Given the description of an element on the screen output the (x, y) to click on. 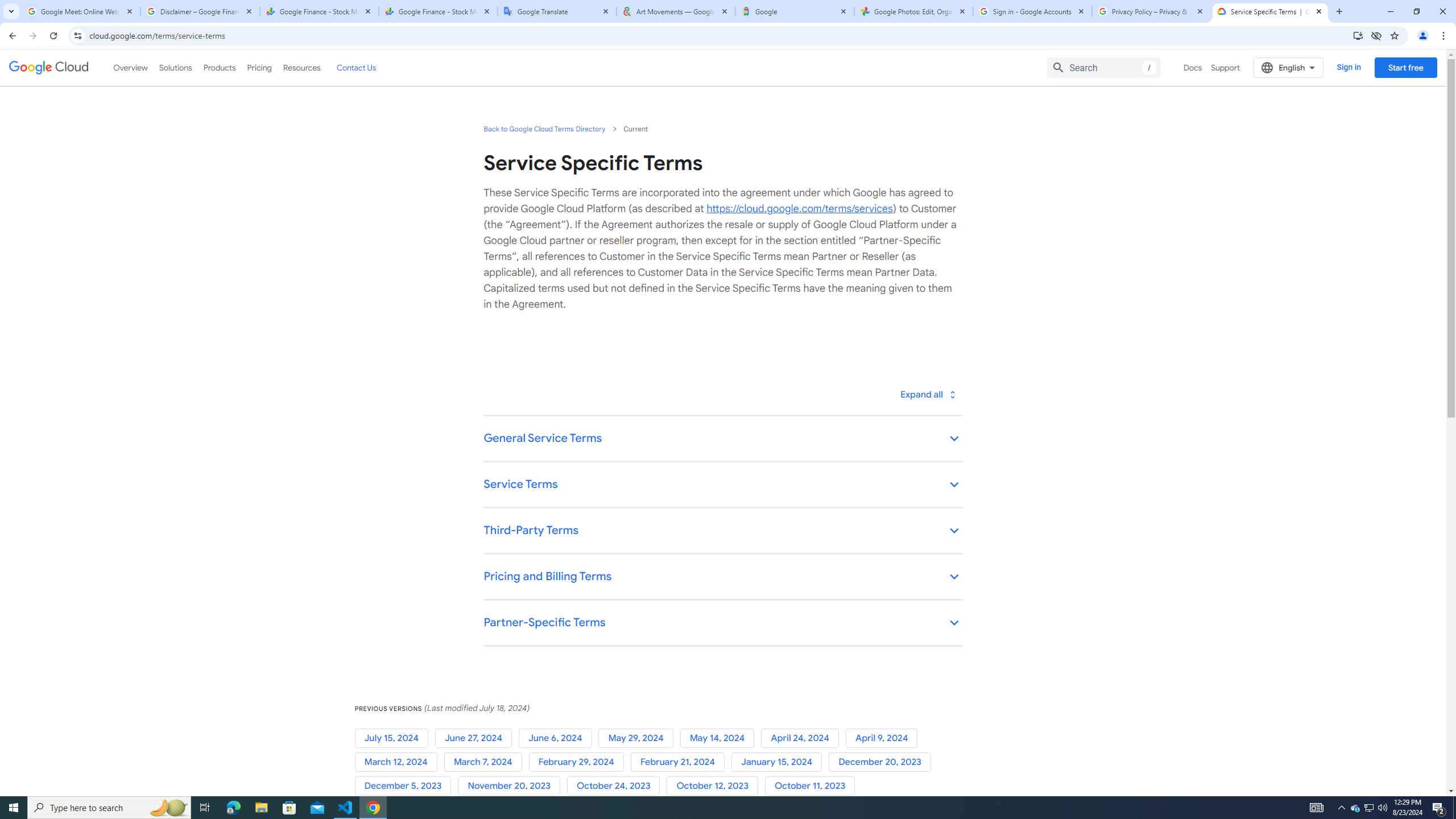
Docs (1192, 67)
Resources (301, 67)
October 24, 2023 (616, 786)
Service Terms keyboard_arrow_down (722, 485)
Partner-Specific Terms keyboard_arrow_down (722, 623)
Start free (1405, 67)
June 6, 2024 (558, 737)
March 7, 2024 (486, 761)
June 27, 2024 (475, 737)
Toggle all (927, 393)
May 14, 2024 (720, 737)
